Given the description of an element on the screen output the (x, y) to click on. 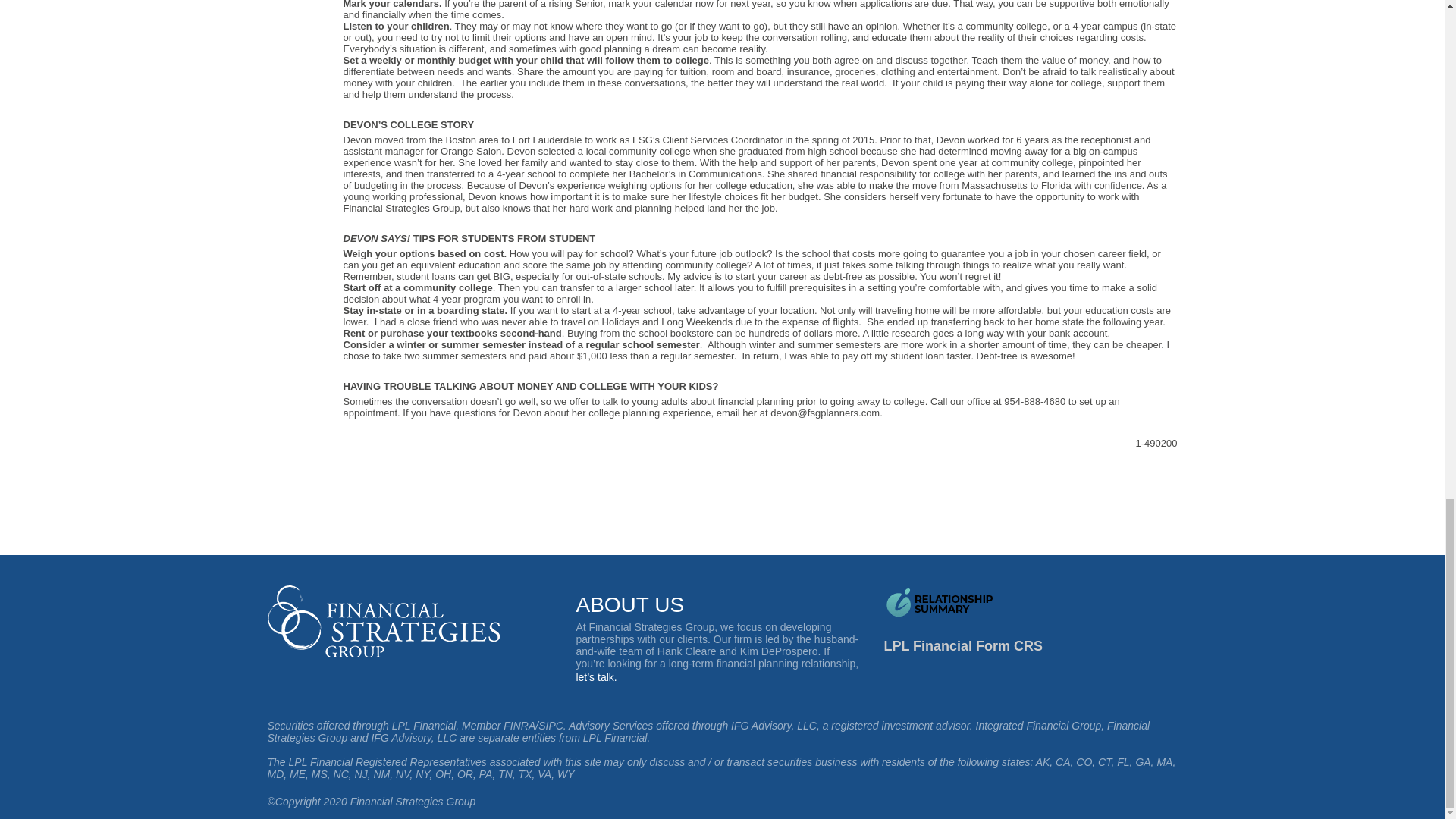
ABOUT US (629, 604)
LPL Financial Form CRS (962, 645)
